Given the description of an element on the screen output the (x, y) to click on. 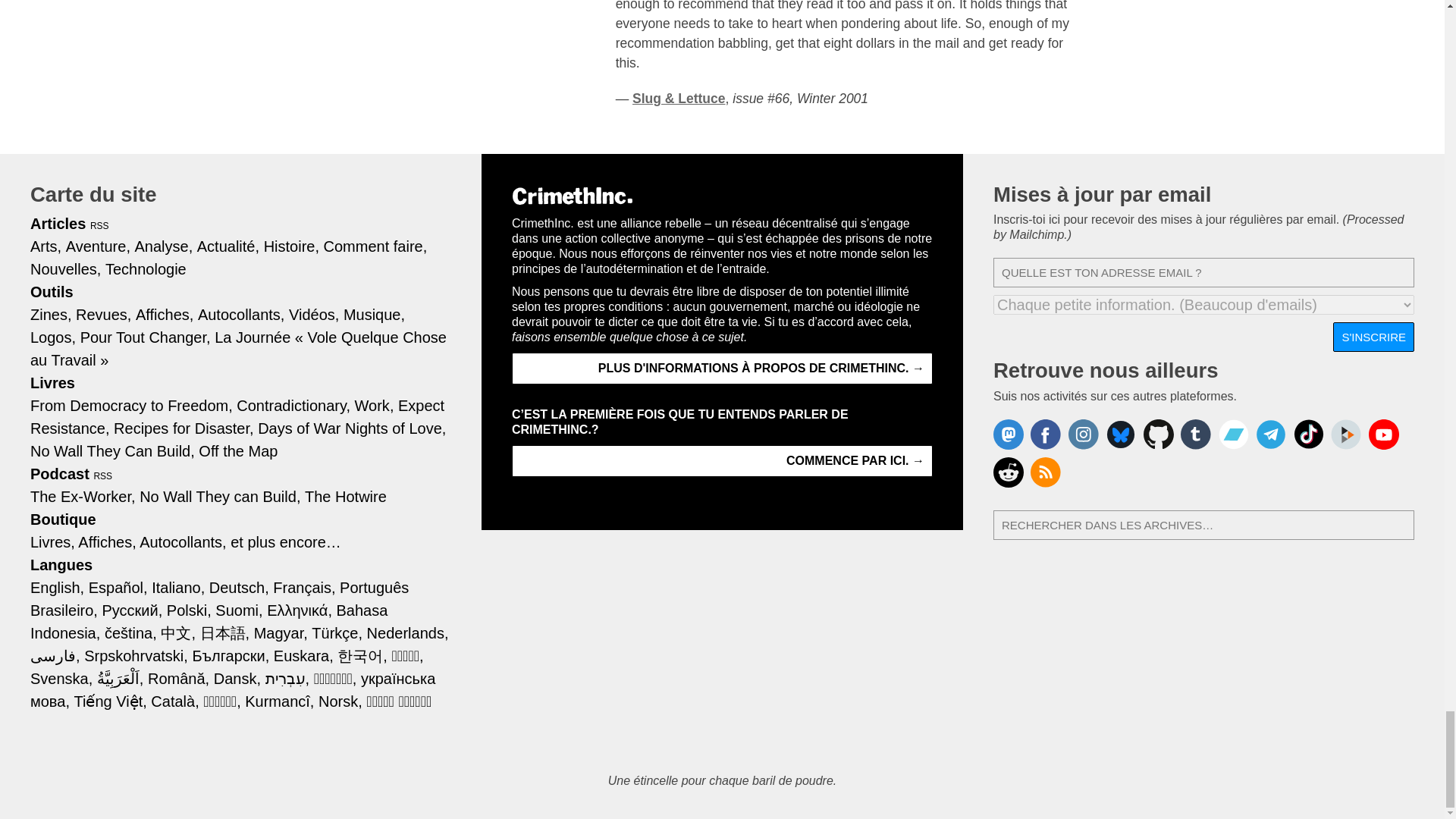
Arts (45, 246)
Comment faire (375, 246)
Histoire (290, 246)
Analyse (164, 246)
Aventure (98, 246)
Articles (57, 223)
RSS (99, 225)
